Given the description of an element on the screen output the (x, y) to click on. 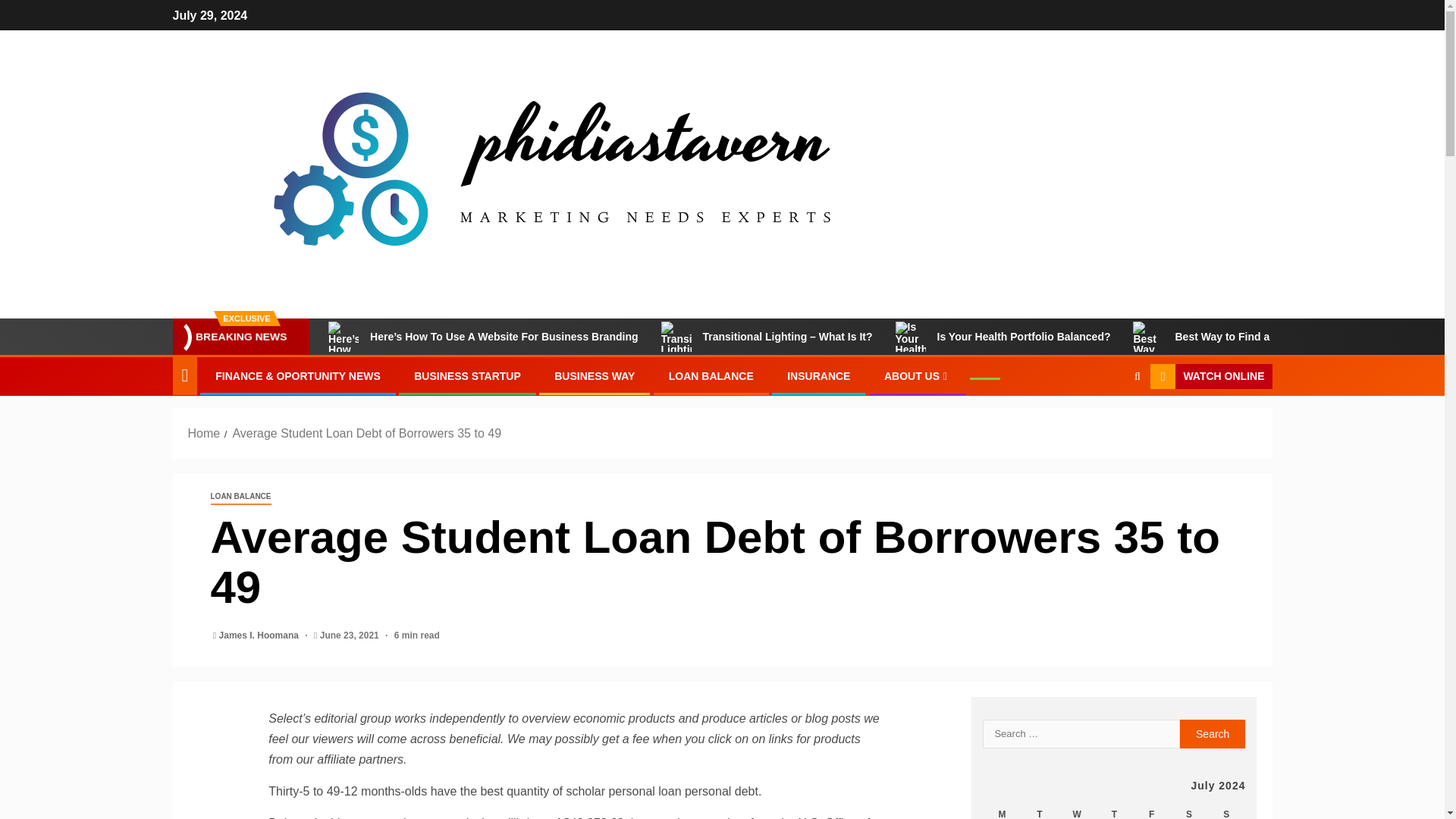
INSURANCE (818, 376)
Search (1212, 733)
Search (1212, 733)
Is Your Health Portfolio Balanced? (1002, 336)
LOAN BALANCE (240, 496)
WATCH ONLINE (1210, 376)
LOAN BALANCE (711, 376)
ABOUT US (916, 376)
Search (1107, 422)
Average Student Loan Debt of Borrowers 35 to 49 (365, 432)
BUSINESS STARTUP (467, 376)
BUSINESS WAY (594, 376)
James I. Hoomana (260, 634)
Home (204, 432)
